Given the description of an element on the screen output the (x, y) to click on. 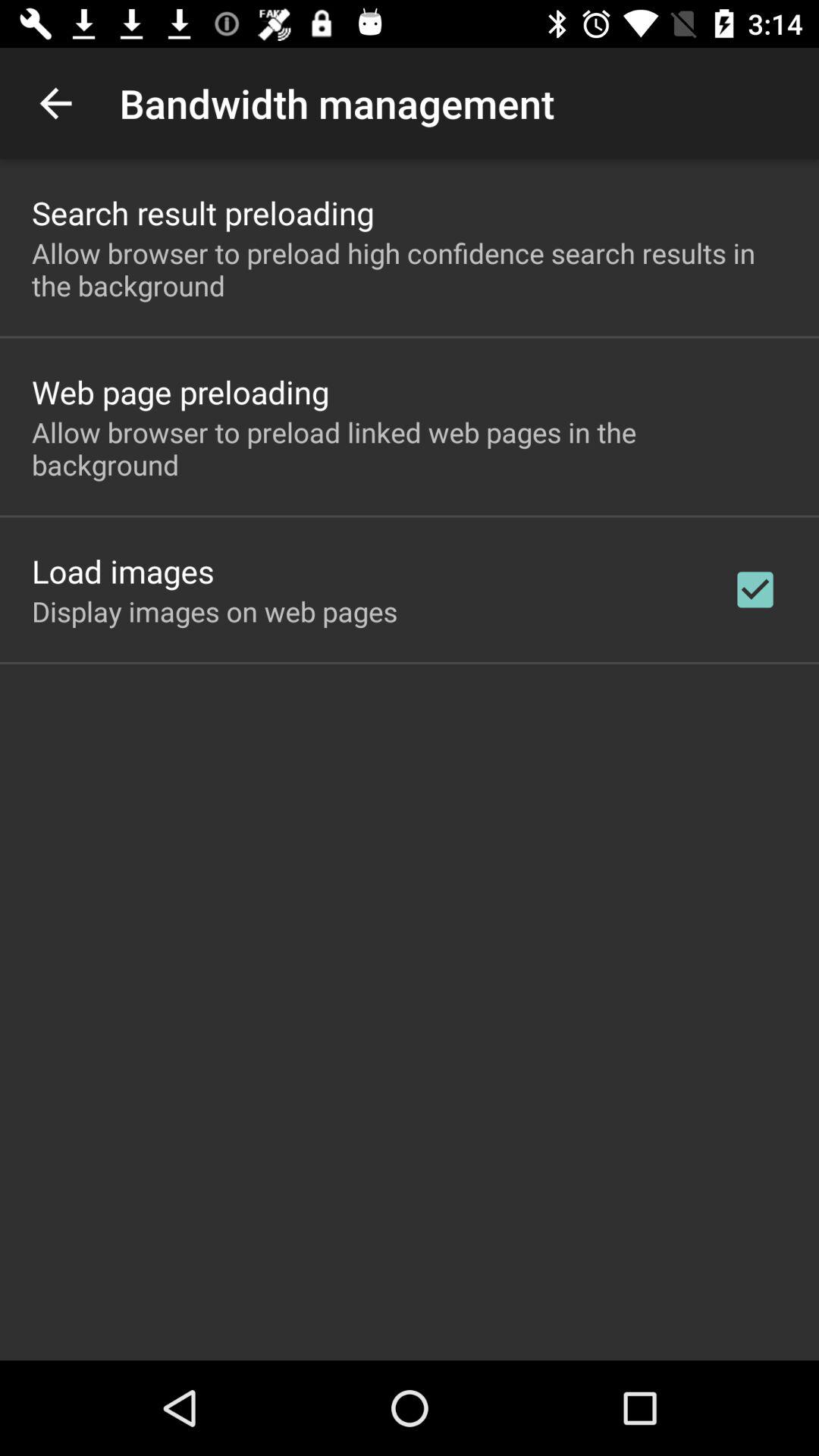
click the load images (122, 570)
